Given the description of an element on the screen output the (x, y) to click on. 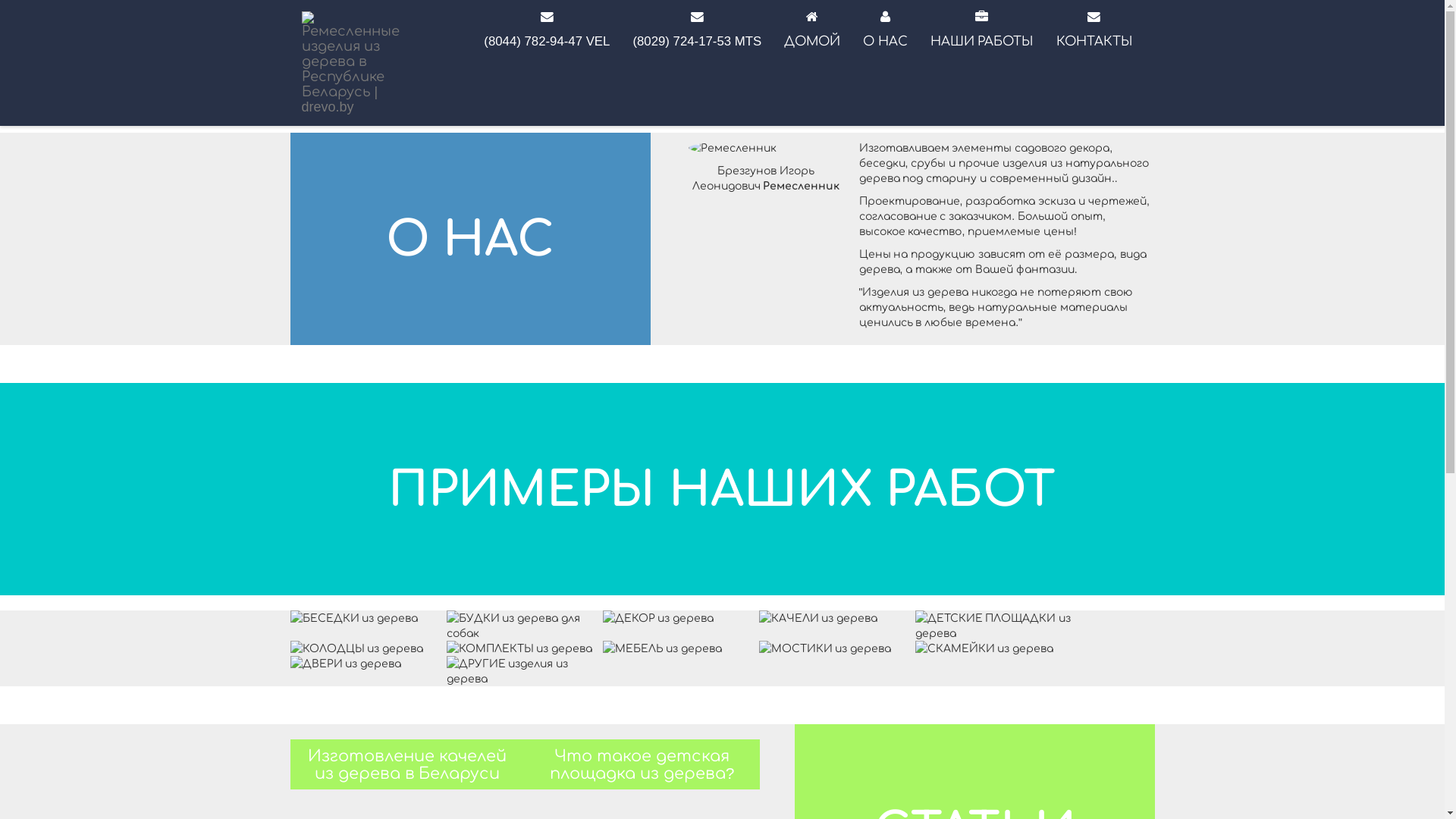
(8044) 782-94-47 VEL Element type: text (546, 32)
(8029) 724-17-53 MTS Element type: text (696, 32)
